Given the description of an element on the screen output the (x, y) to click on. 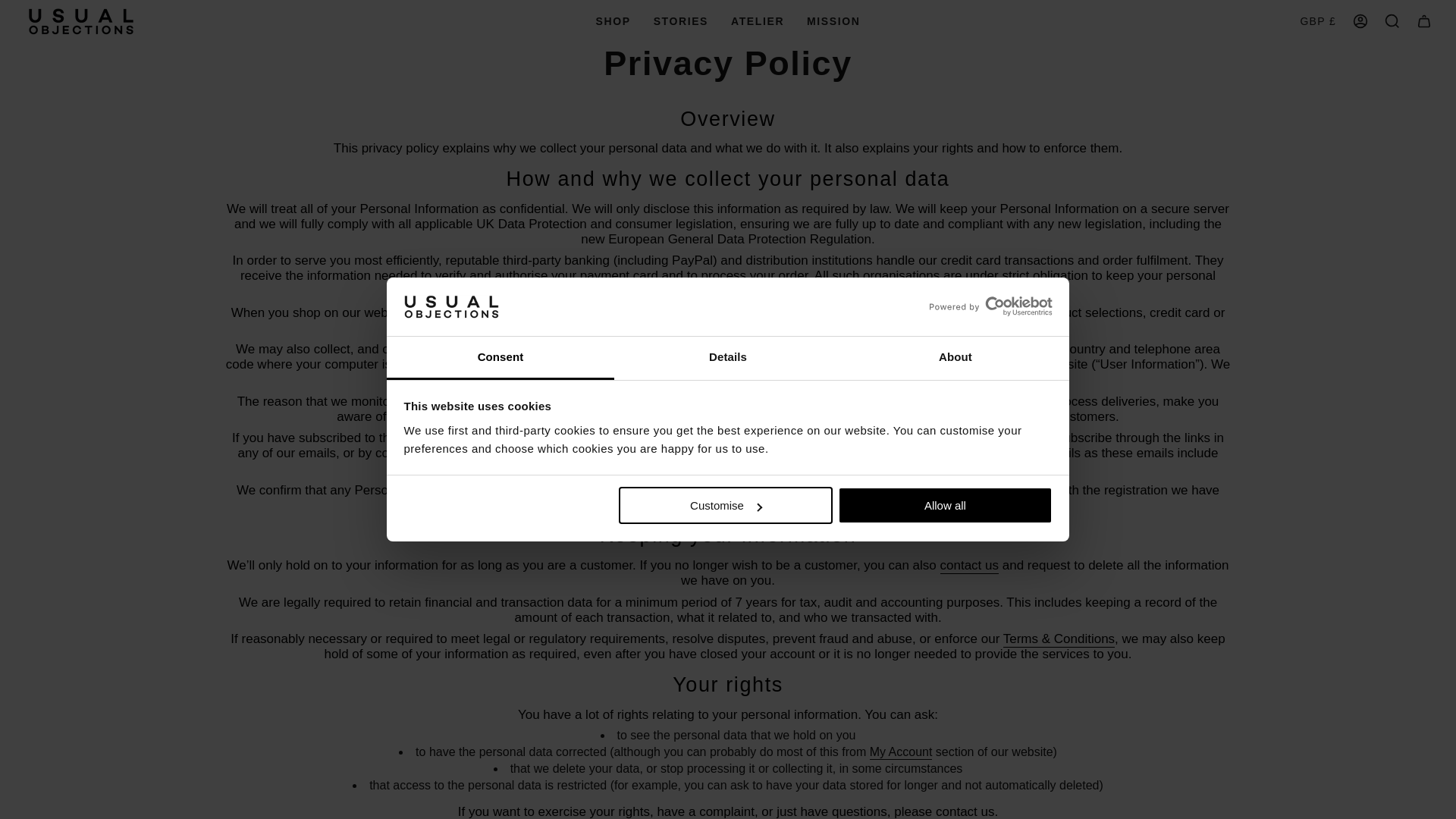
Cart (1423, 21)
My Account (1359, 21)
contact us (969, 566)
Search (1391, 21)
About (954, 358)
Details (727, 358)
Consent (500, 358)
